Given the description of an element on the screen output the (x, y) to click on. 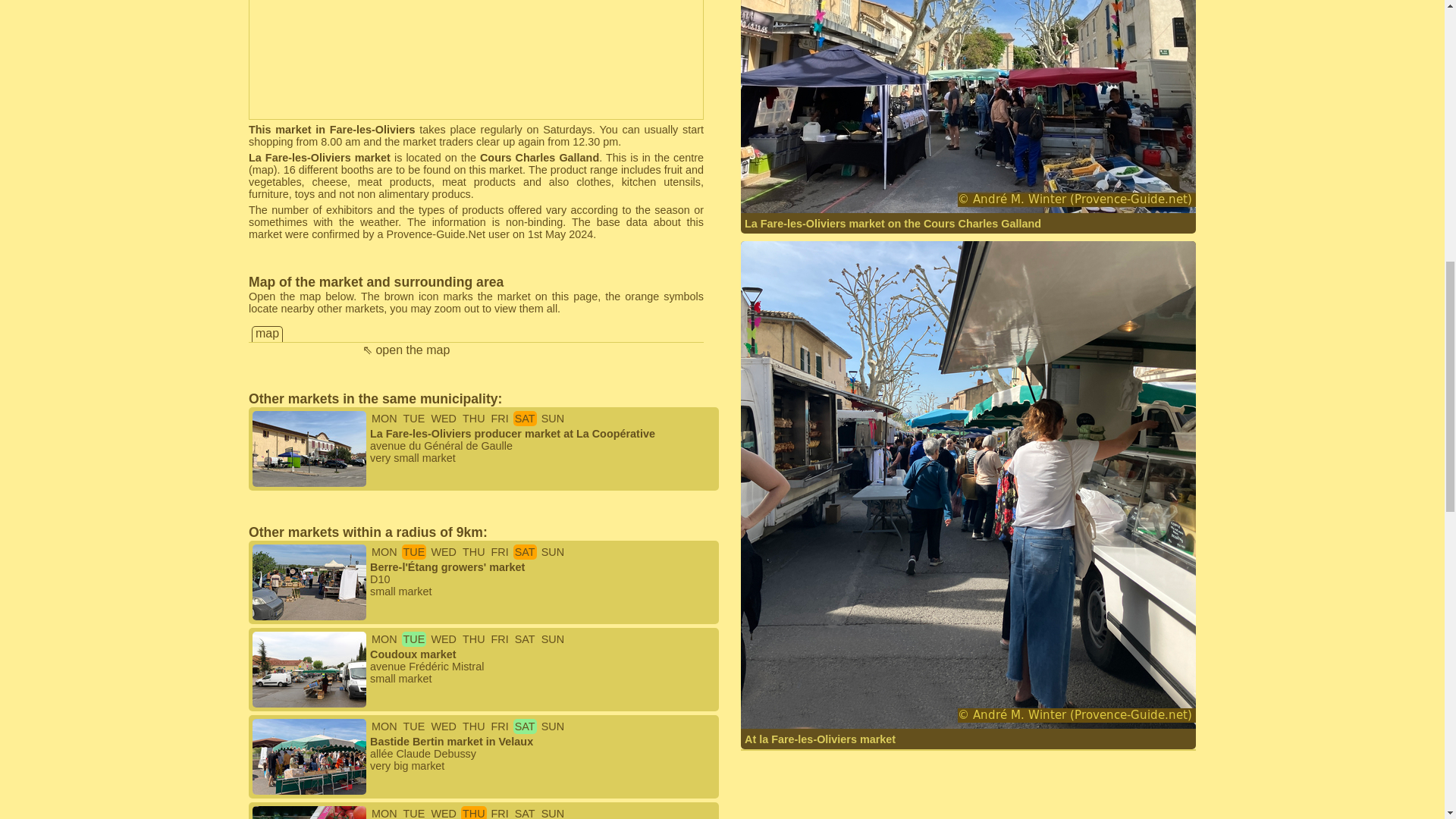
map (262, 169)
map (267, 332)
